Given the description of an element on the screen output the (x, y) to click on. 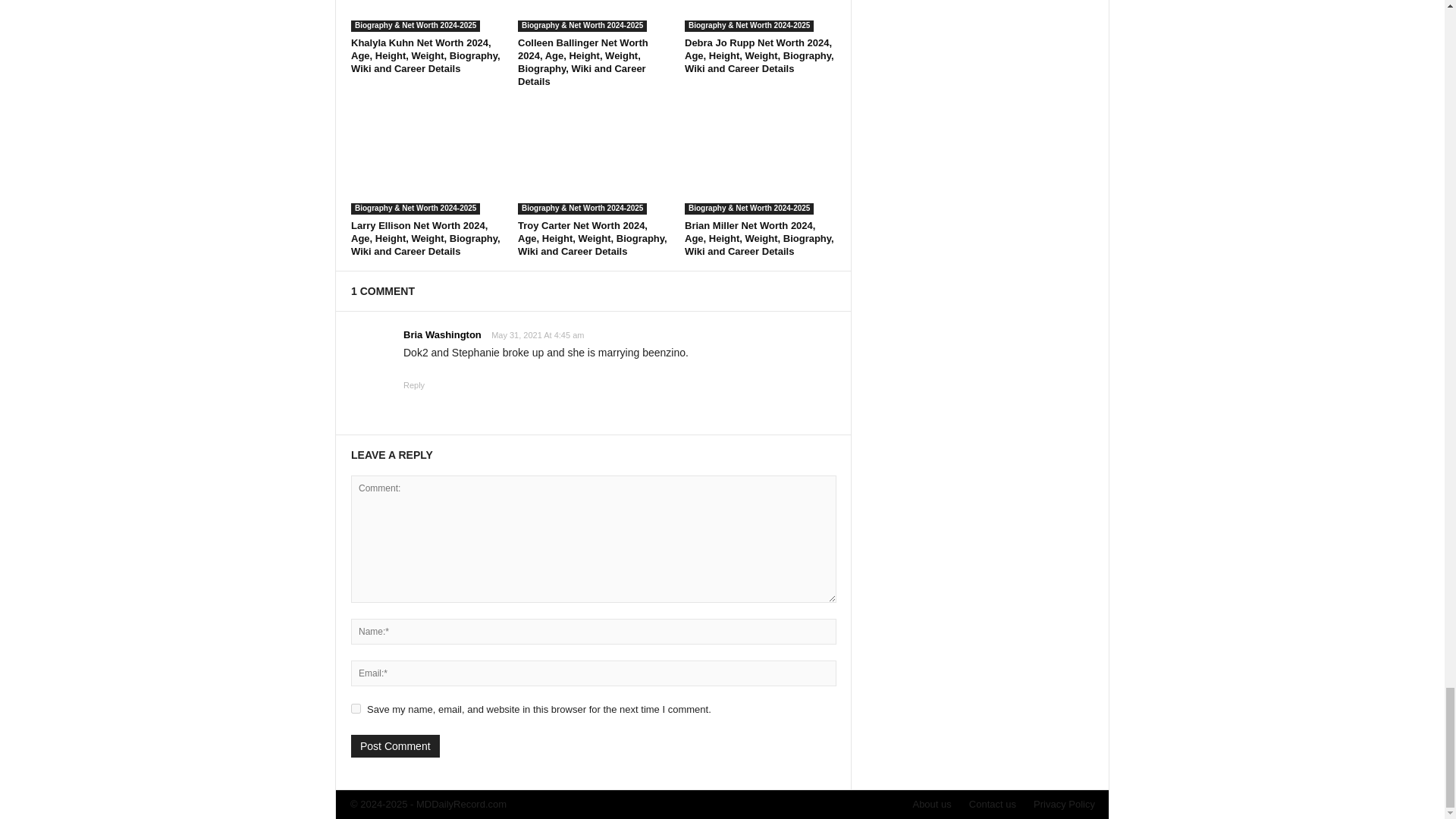
Post Comment (394, 745)
